Given the description of an element on the screen output the (x, y) to click on. 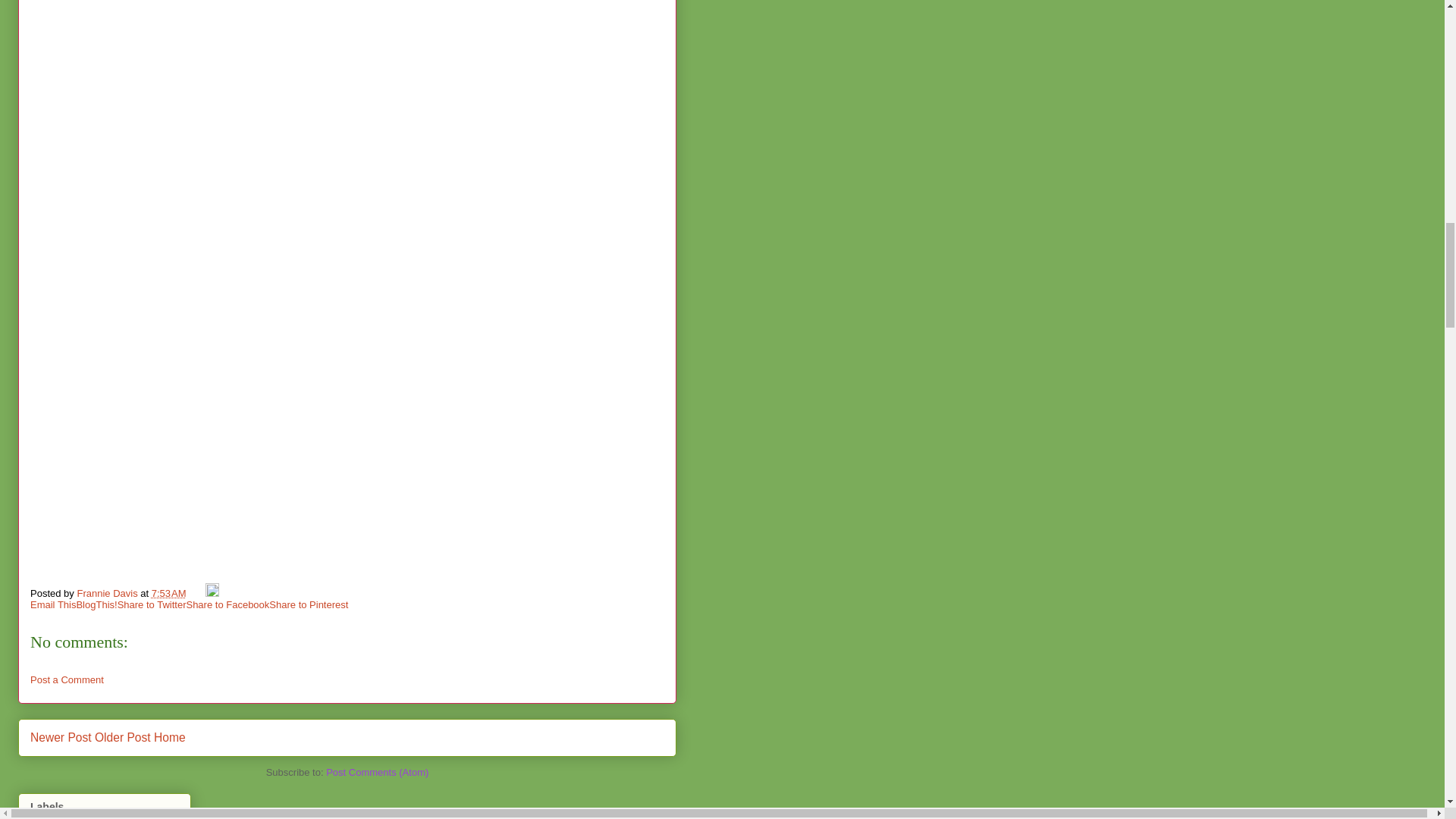
Frannie Davis (108, 593)
Share to Facebook (227, 604)
Email Post (197, 593)
Share to Pinterest (308, 604)
Share to Twitter (151, 604)
Older Post (122, 737)
Newer Post (60, 737)
Share to Pinterest (308, 604)
permanent link (168, 593)
Edit Post (212, 593)
Post a Comment (66, 679)
Email This (52, 604)
BlogThis! (95, 604)
Older Post (122, 737)
